Given the description of an element on the screen output the (x, y) to click on. 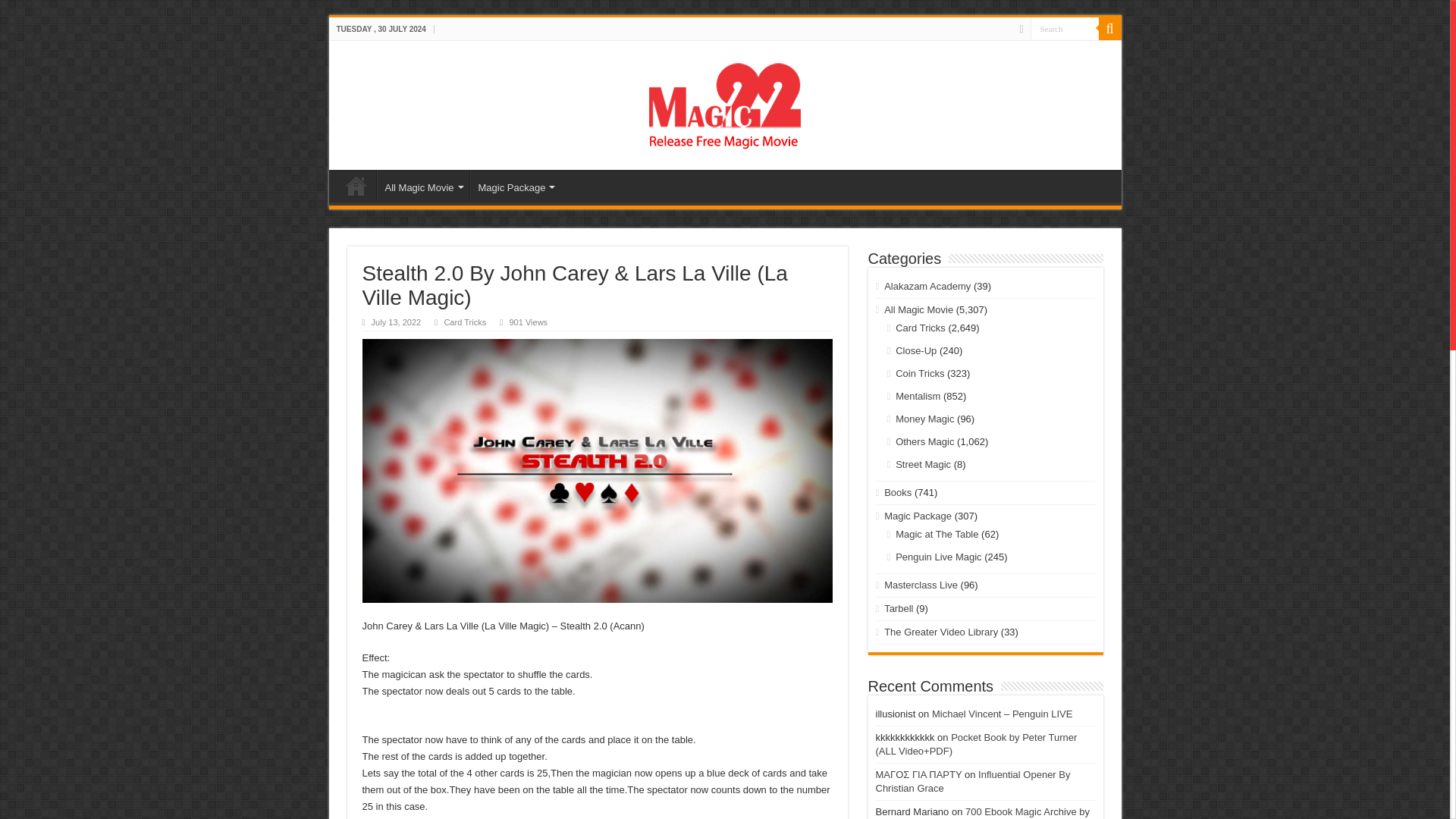
Search (1109, 28)
All Magic Movie (421, 185)
Mentalism (917, 396)
Search (1063, 28)
Close-Up (915, 350)
Magic22 (724, 102)
All Magic Movie (918, 309)
Search (1063, 28)
Coin Tricks (919, 373)
Magic Package (515, 185)
Card Tricks (465, 321)
Search (1063, 28)
Home (355, 185)
Alakazam Academy (927, 285)
Card Tricks (919, 327)
